Given the description of an element on the screen output the (x, y) to click on. 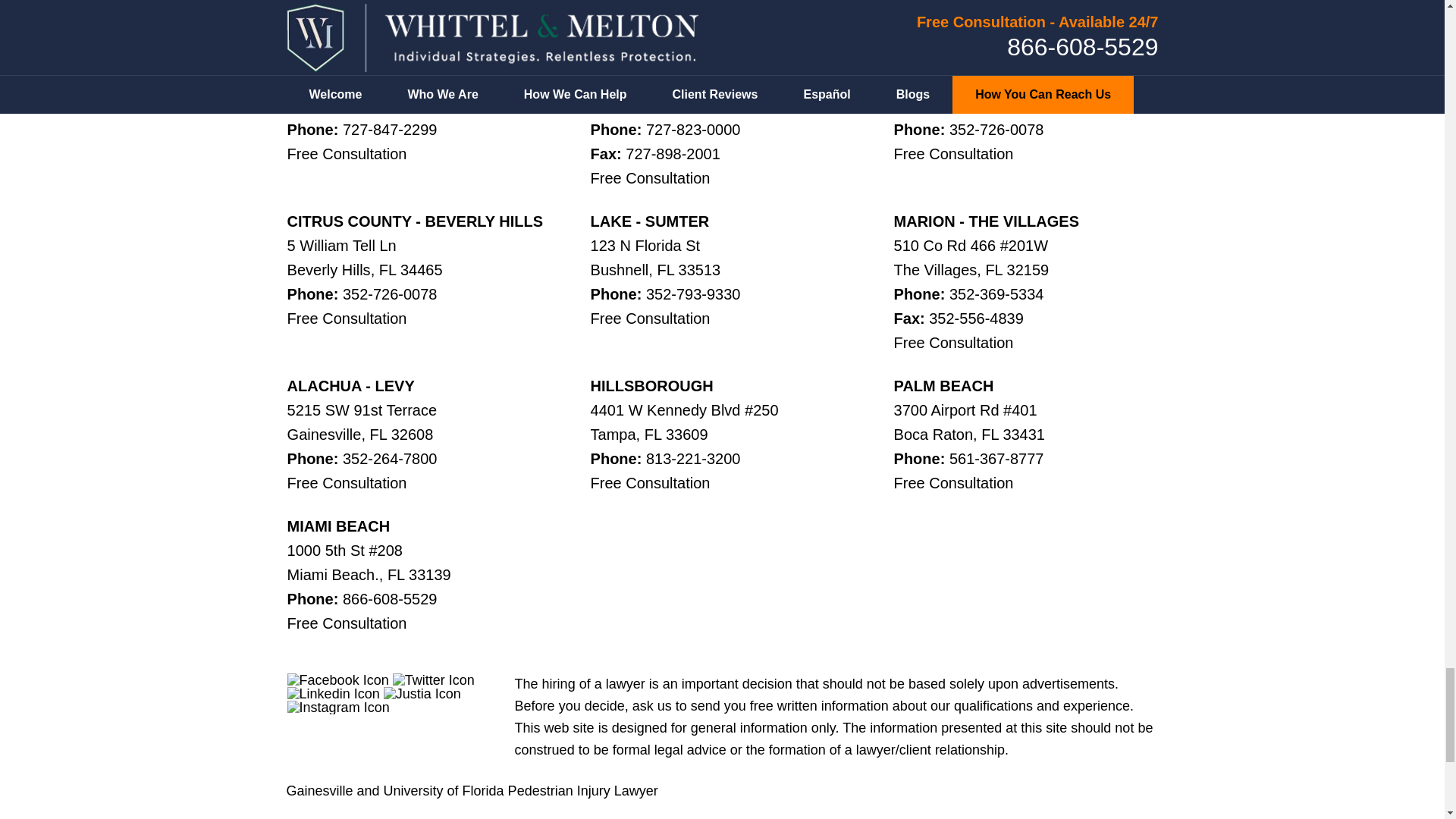
Justia (422, 694)
Twitter (433, 680)
Facebook (337, 680)
Linkedin (333, 694)
Instagram (338, 707)
